Given the description of an element on the screen output the (x, y) to click on. 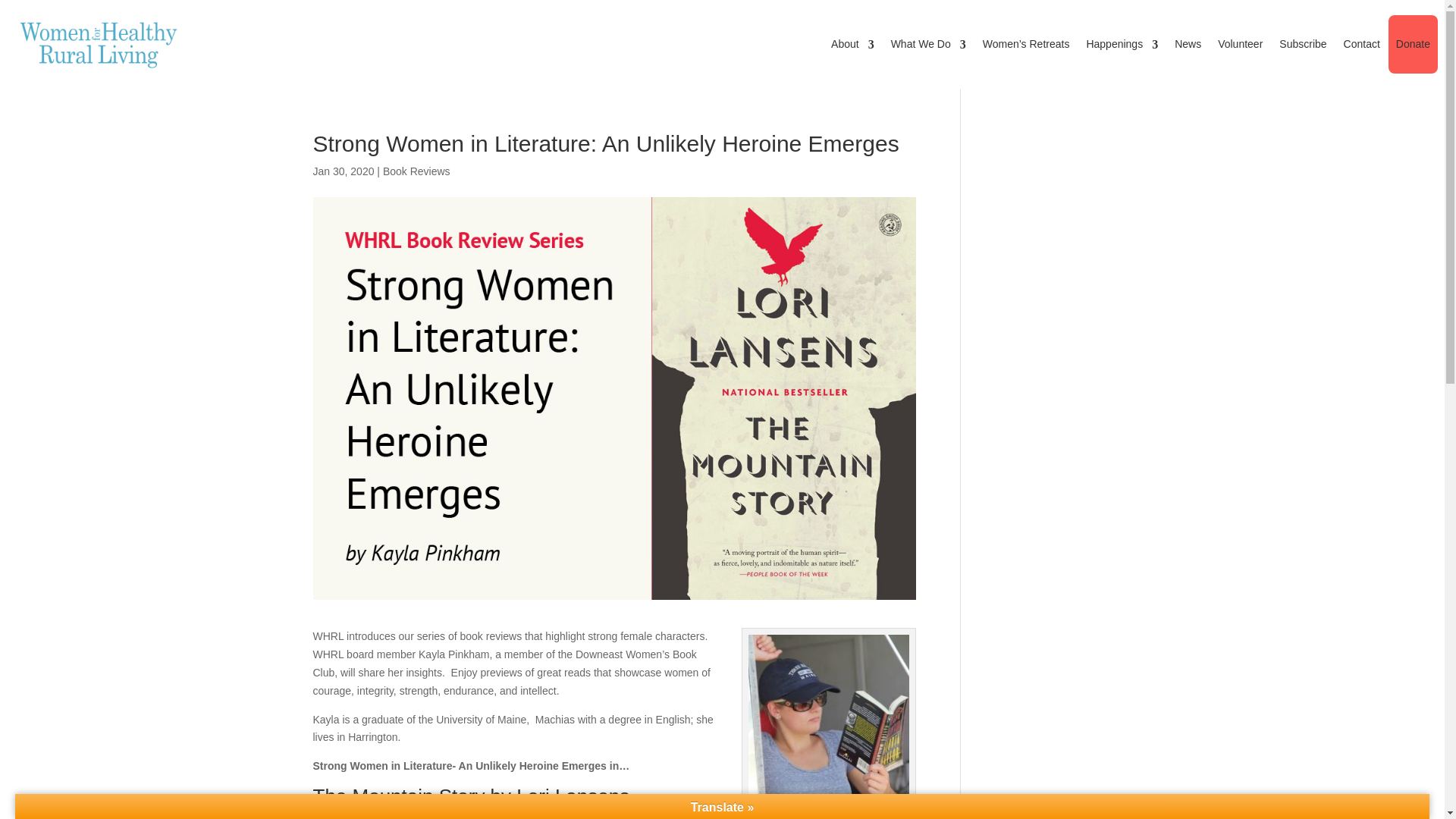
What We Do (928, 44)
Happenings (1121, 44)
